Given the description of an element on the screen output the (x, y) to click on. 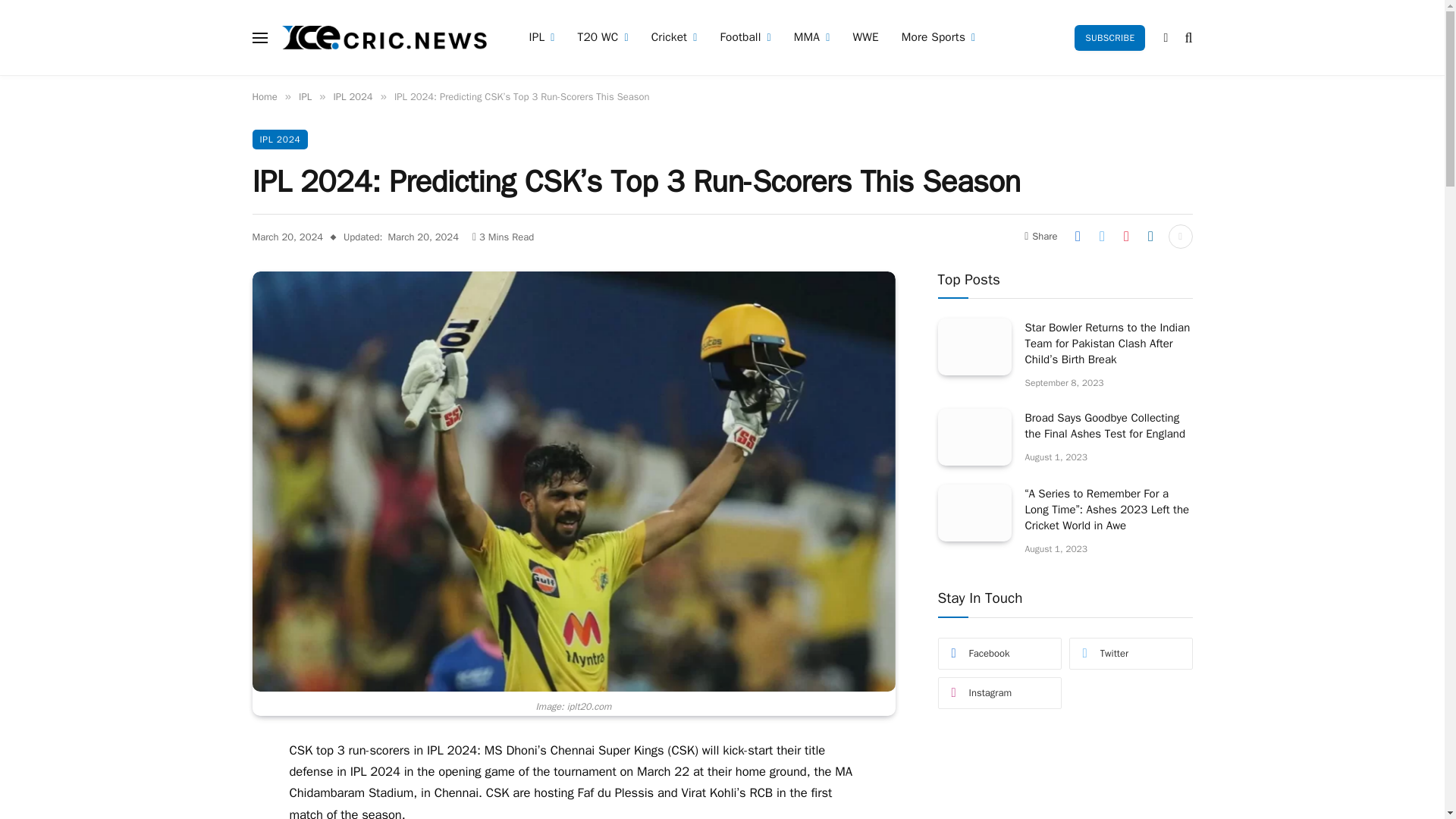
Latest Sports News (385, 38)
